Given the description of an element on the screen output the (x, y) to click on. 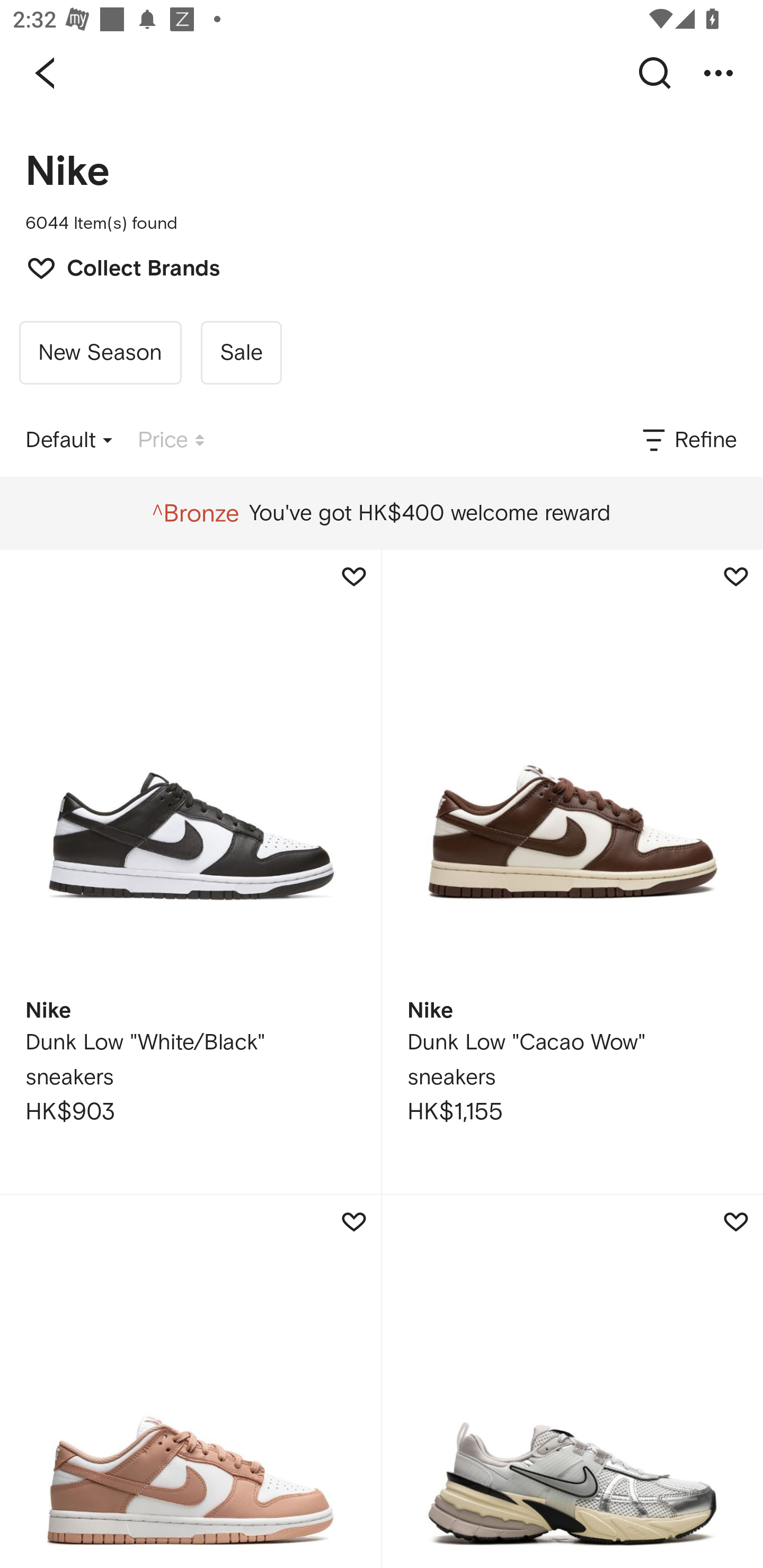
Collect Brands (114, 266)
New Season (100, 352)
Sale (240, 352)
Default (68, 440)
Price (171, 440)
Refine (688, 440)
You've got HK$400 welcome reward (381, 513)
Nike Dunk Low "White/Black" sneakers HK$903 (190, 871)
Nike Dunk Low "Cacao Wow" sneakers HK$1,155 (572, 871)
